Given the description of an element on the screen output the (x, y) to click on. 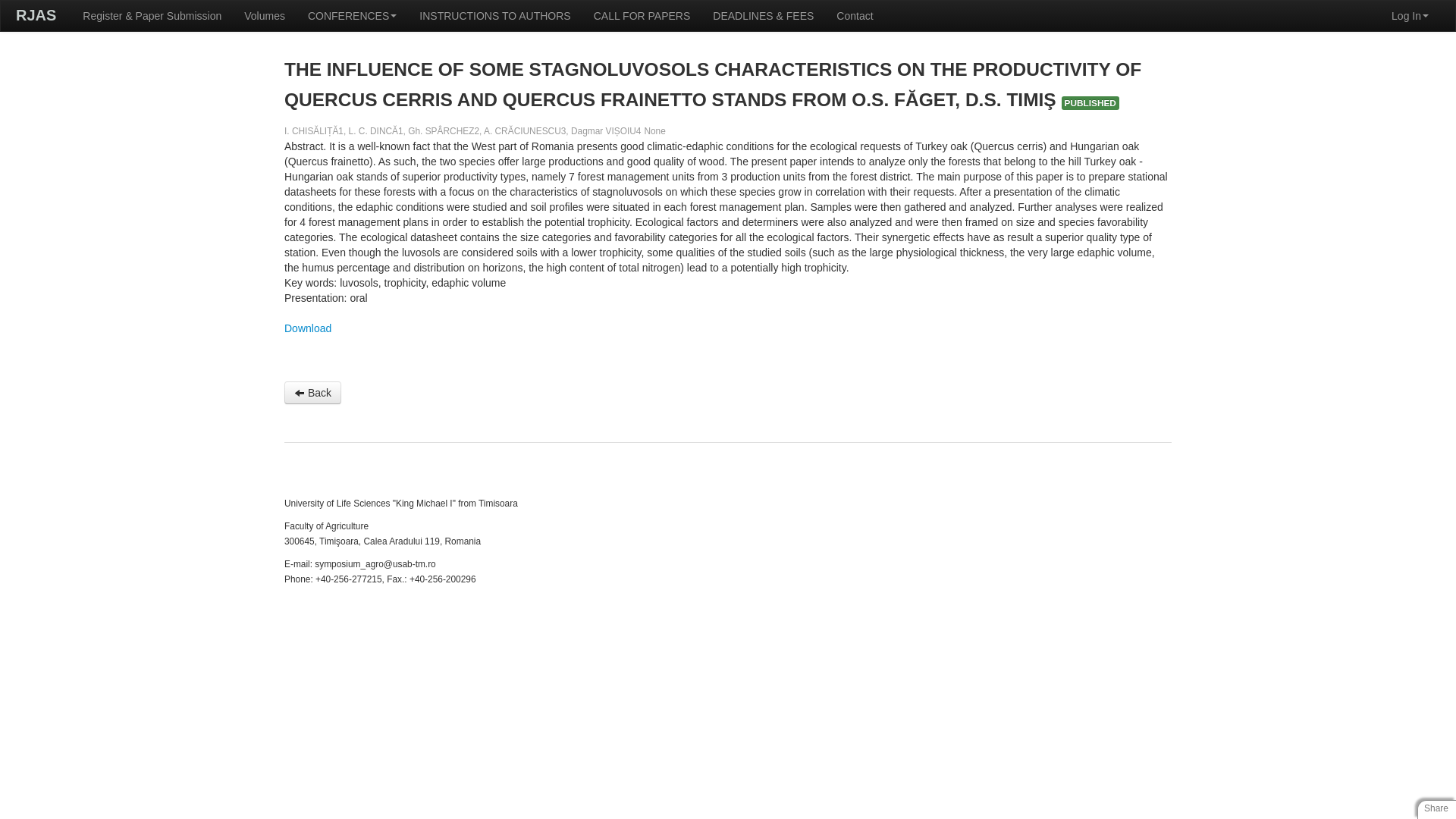
INSTRUCTIONS TO AUTHORS (493, 15)
Download (307, 328)
Volumes (264, 15)
RJAS (36, 15)
CONFERENCES (352, 15)
CALL FOR PAPERS (641, 15)
Contact (854, 15)
Log In (1409, 15)
Back (311, 392)
